Given the description of an element on the screen output the (x, y) to click on. 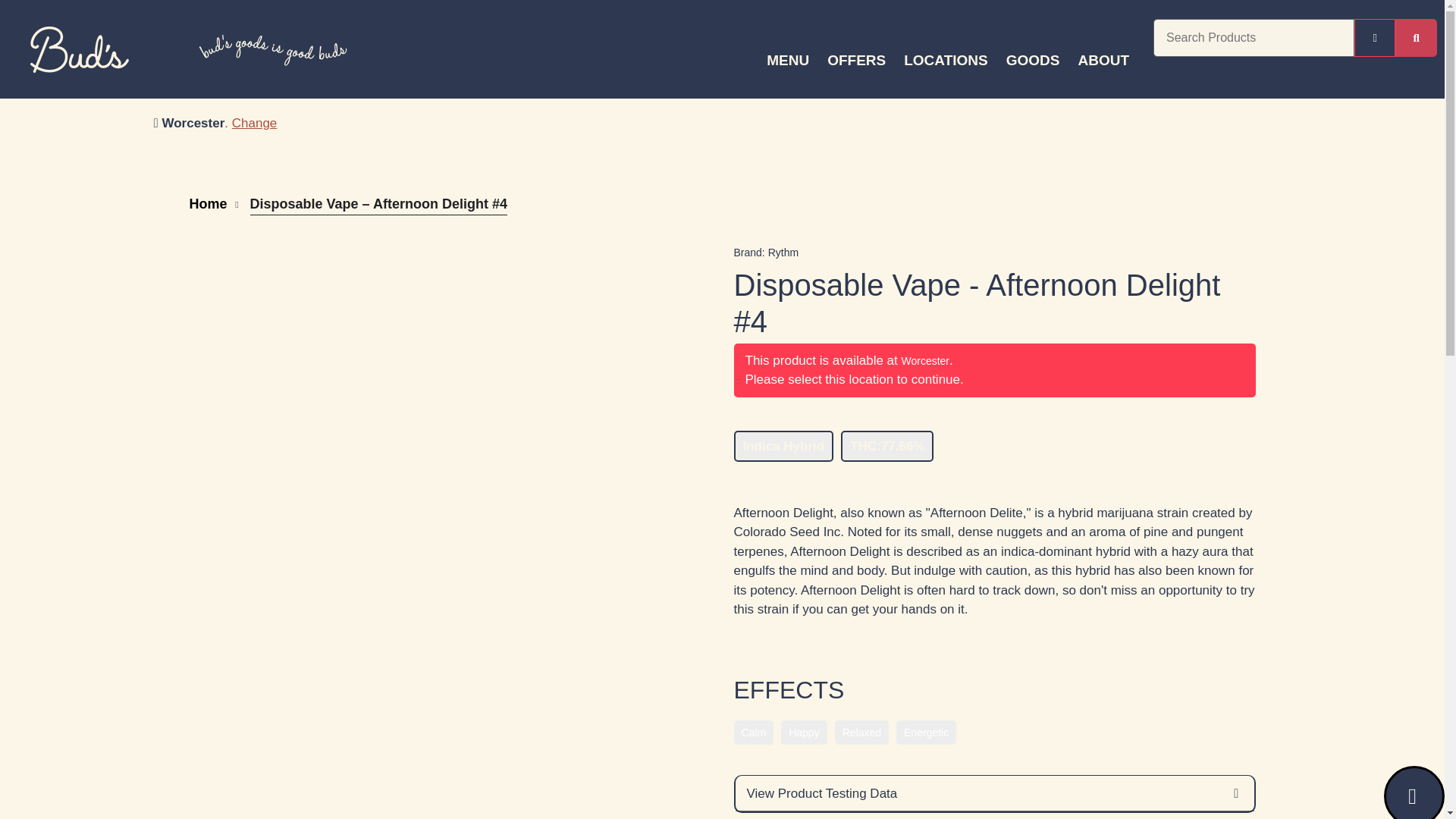
LOCATIONS (945, 60)
OFFERS (856, 60)
Clear product search keywords (1375, 37)
Search products with matching keywords (1415, 37)
GOODS (1032, 60)
ABOUT (1103, 60)
MENU (787, 60)
